Given the description of an element on the screen output the (x, y) to click on. 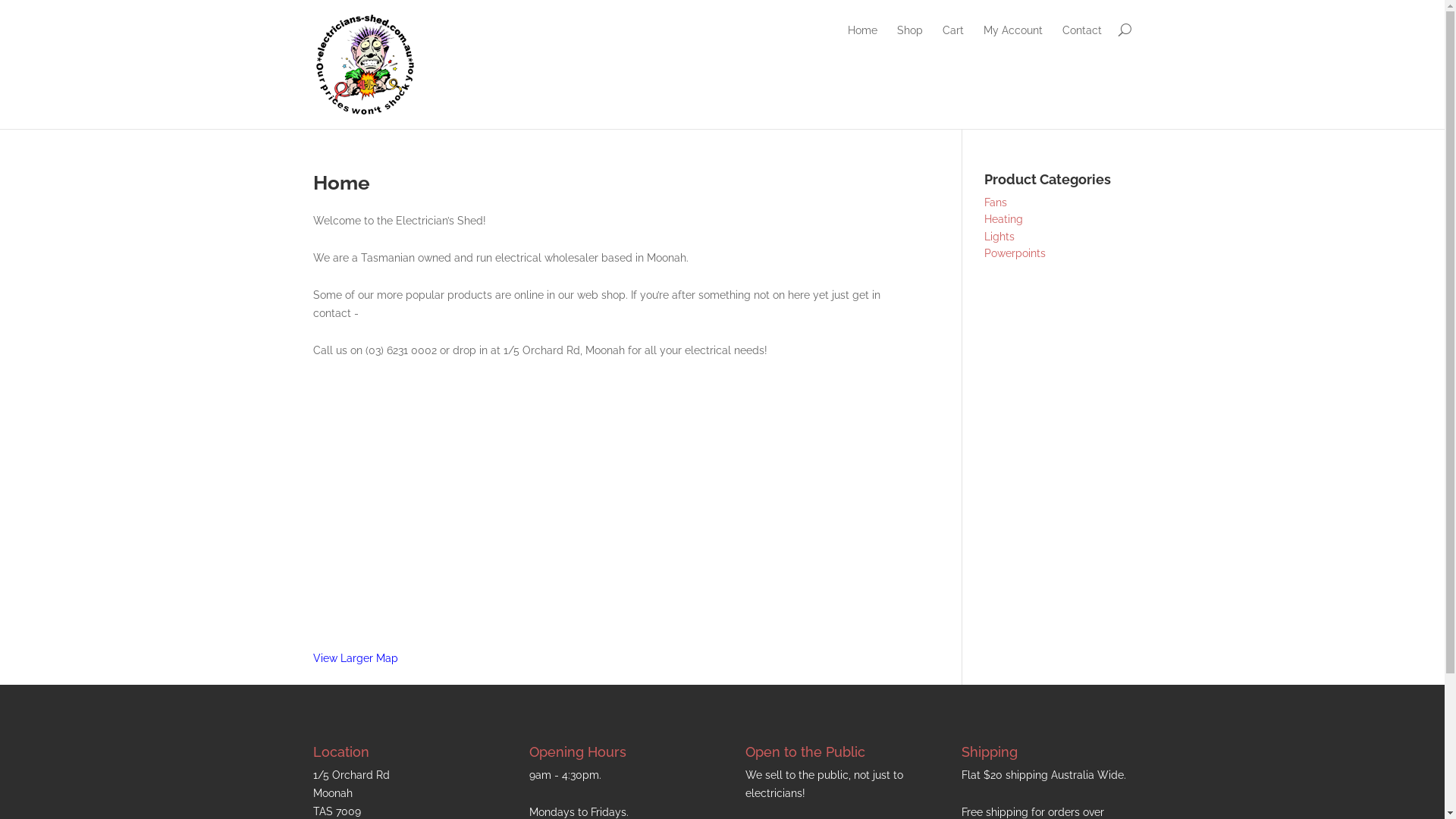
Lights Element type: text (999, 236)
Fans Element type: text (995, 202)
Powerpoints Element type: text (1014, 253)
View Larger Map Element type: text (354, 658)
Cart Element type: text (952, 40)
My Account Element type: text (1011, 40)
Home Element type: text (862, 40)
Shop Element type: text (909, 40)
Contact Element type: text (1081, 40)
Heating Element type: text (1003, 219)
